Given the description of an element on the screen output the (x, y) to click on. 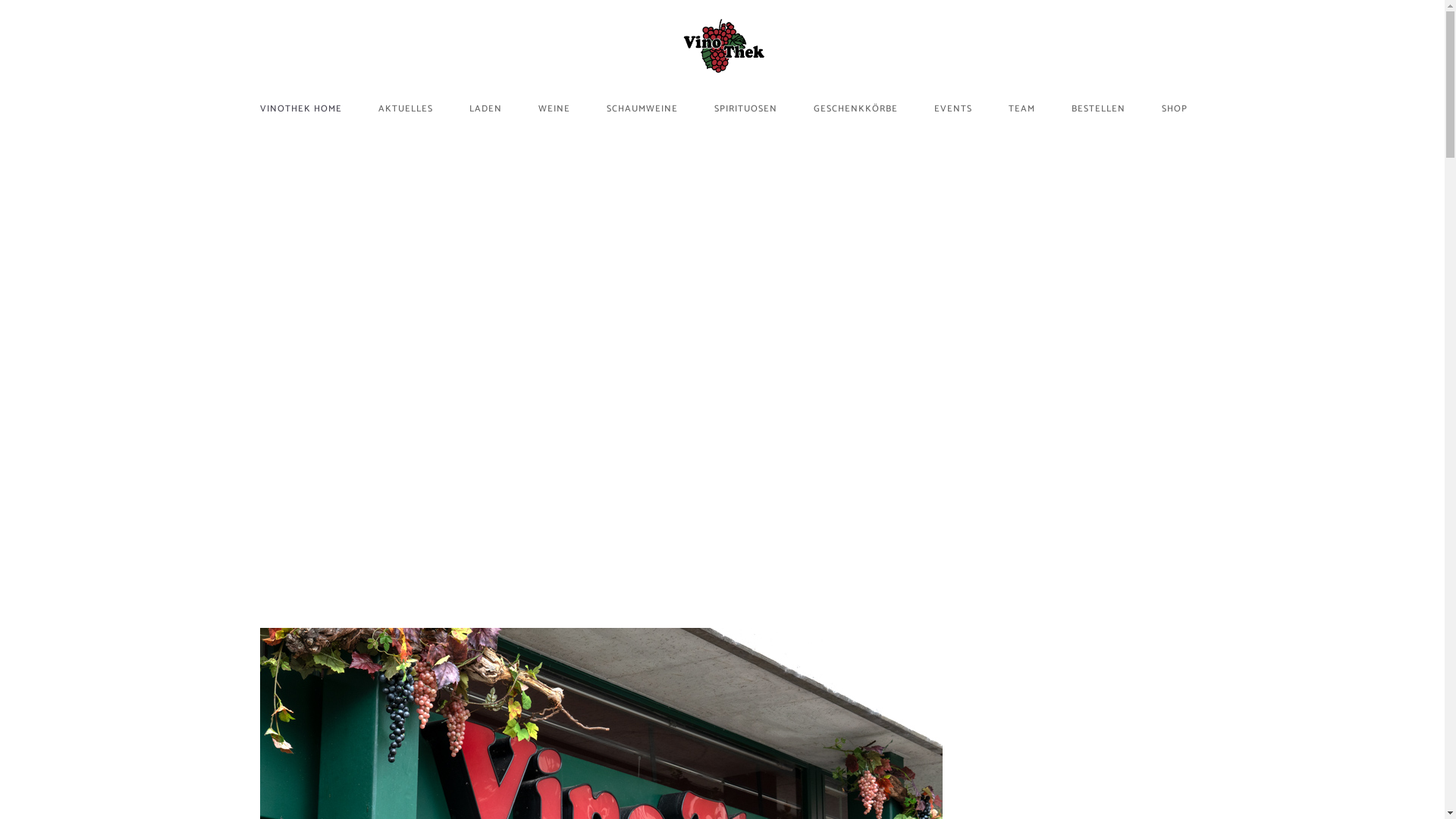
VINOTHEK HOME Element type: text (300, 108)
TEAM Element type: text (1021, 108)
LADEN Element type: text (485, 108)
SCHAUMWEINE Element type: text (642, 108)
SHOP Element type: text (1174, 108)
EVENTS Element type: text (953, 108)
WEINE Element type: text (554, 108)
AKTUELLES Element type: text (405, 108)
SPIRITUOSEN Element type: text (745, 108)
BESTELLEN Element type: text (1098, 108)
